Given the description of an element on the screen output the (x, y) to click on. 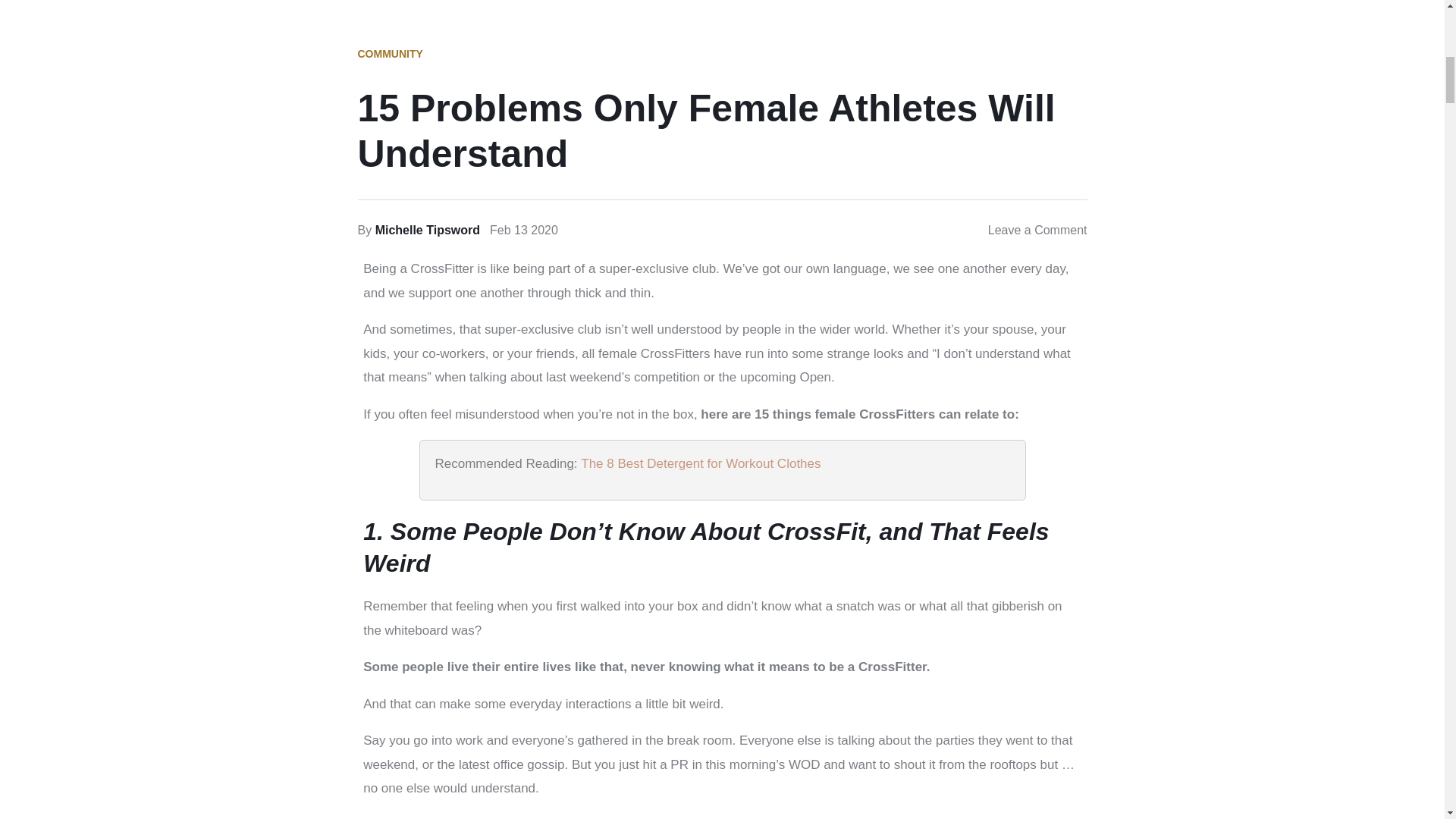
Leave a Comment (1037, 229)
The 8 Best Detergent for Workout Clothes (700, 463)
COMMUNITY (390, 53)
